Given the description of an element on the screen output the (x, y) to click on. 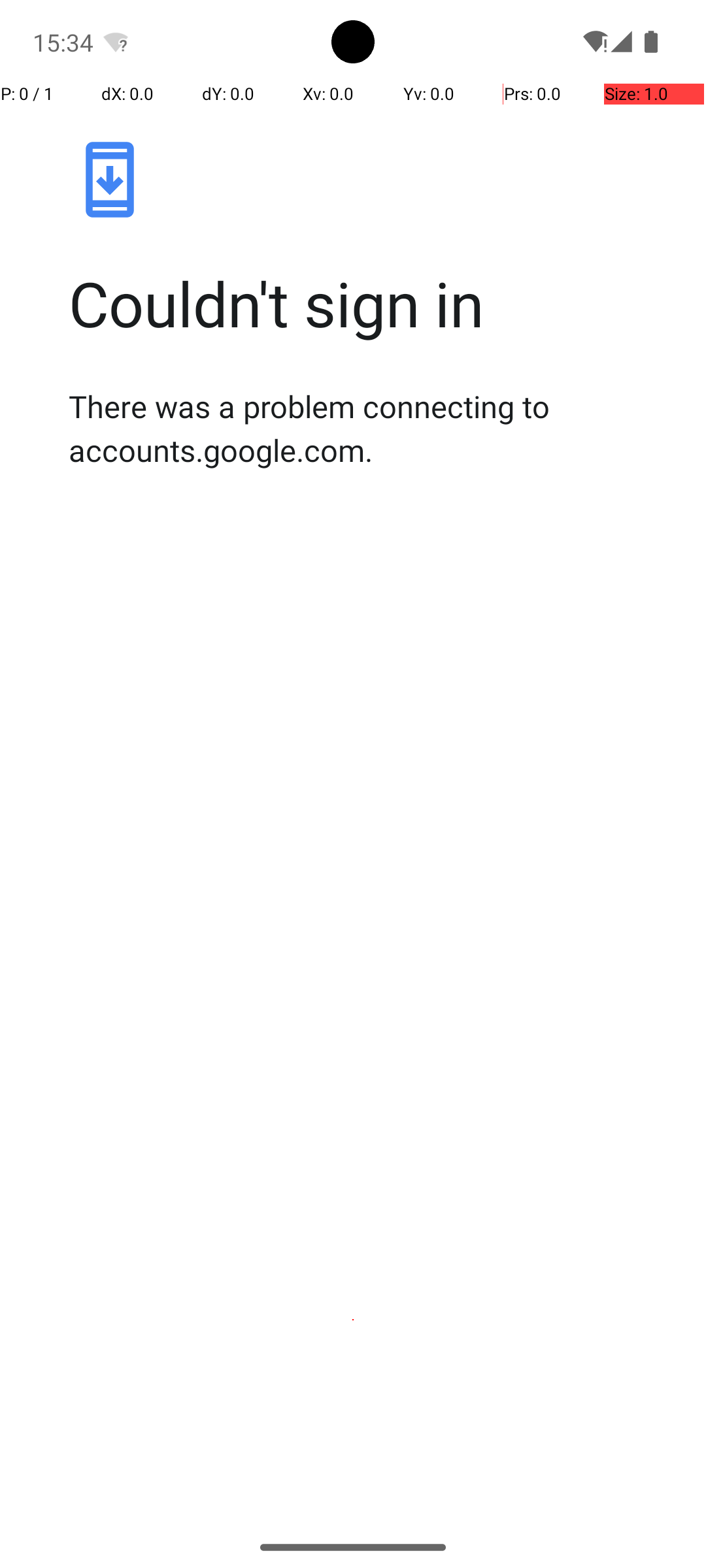
There was a problem connecting to accounts.google.com. Element type: android.widget.TextView (366, 427)
